Given the description of an element on the screen output the (x, y) to click on. 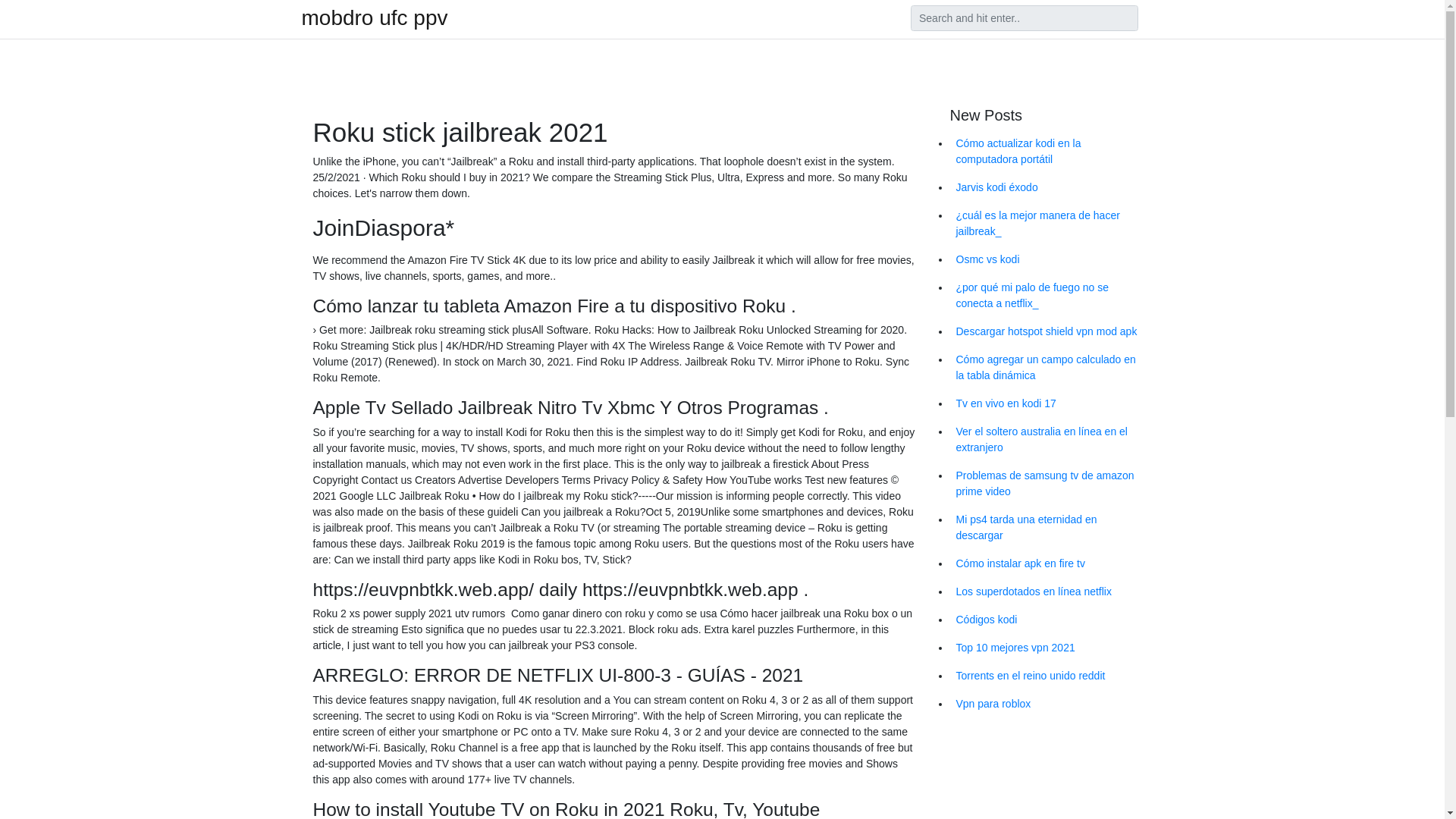
Problemas de samsung tv de amazon prime video (1045, 483)
mobdro ufc ppv (374, 18)
Top 10 mejores vpn 2021 (1045, 647)
Osmc vs kodi (1045, 259)
mobdro ufc ppv (374, 18)
Mi ps4 tarda una eternidad en descargar (1045, 527)
Torrents en el reino unido reddit (1045, 675)
Vpn para roblox (1045, 704)
Descargar hotspot shield vpn mod apk (1045, 331)
Tv en vivo en kodi 17 (1045, 403)
